Given the description of an element on the screen output the (x, y) to click on. 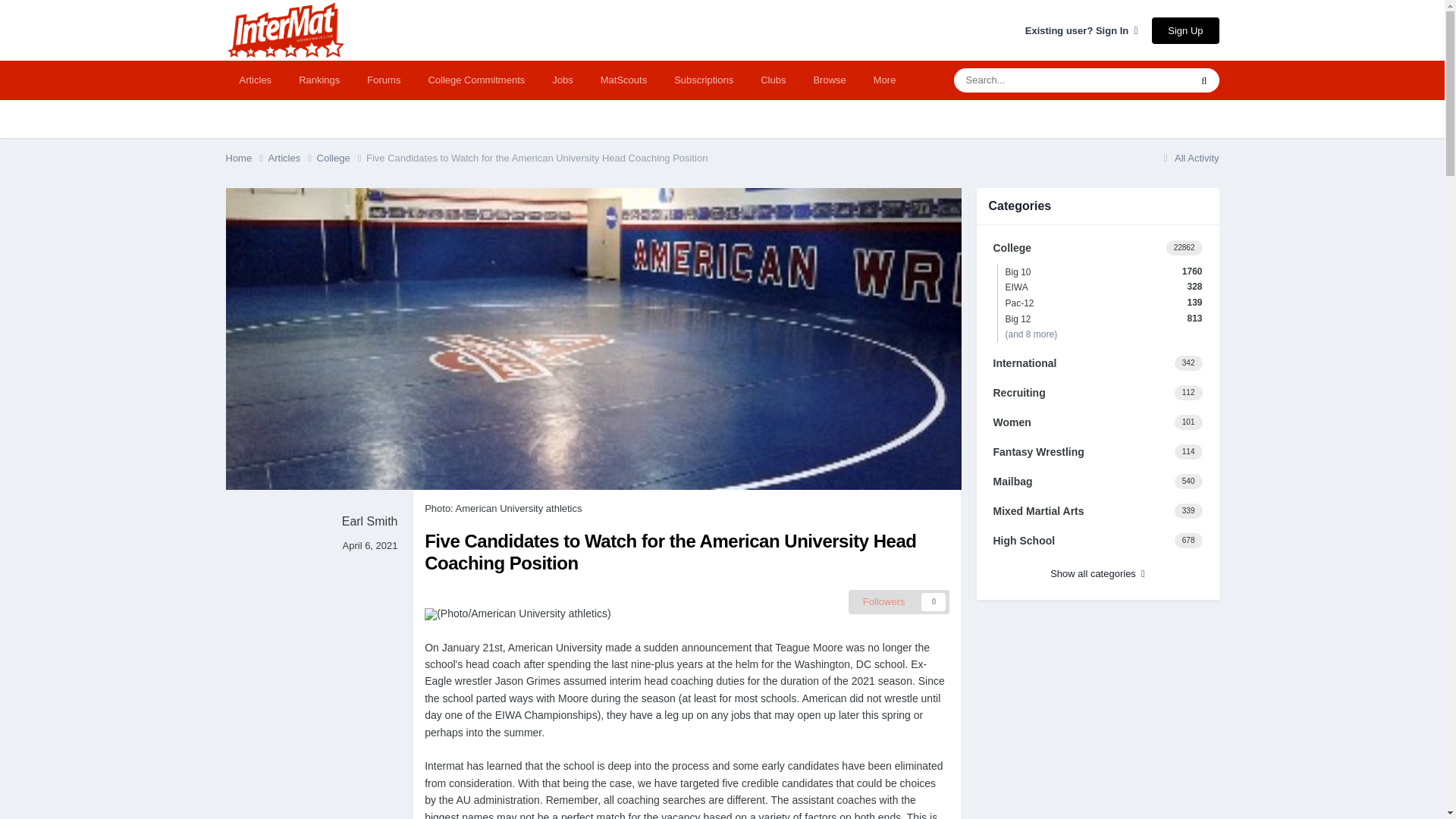
Articles (255, 79)
College Commitments (475, 79)
Rankings (319, 79)
Browse (829, 79)
More (885, 79)
MatScouts (623, 79)
Home (246, 158)
Clubs (772, 79)
Enlarge image (430, 613)
Sign in to follow this (899, 601)
